Given the description of an element on the screen output the (x, y) to click on. 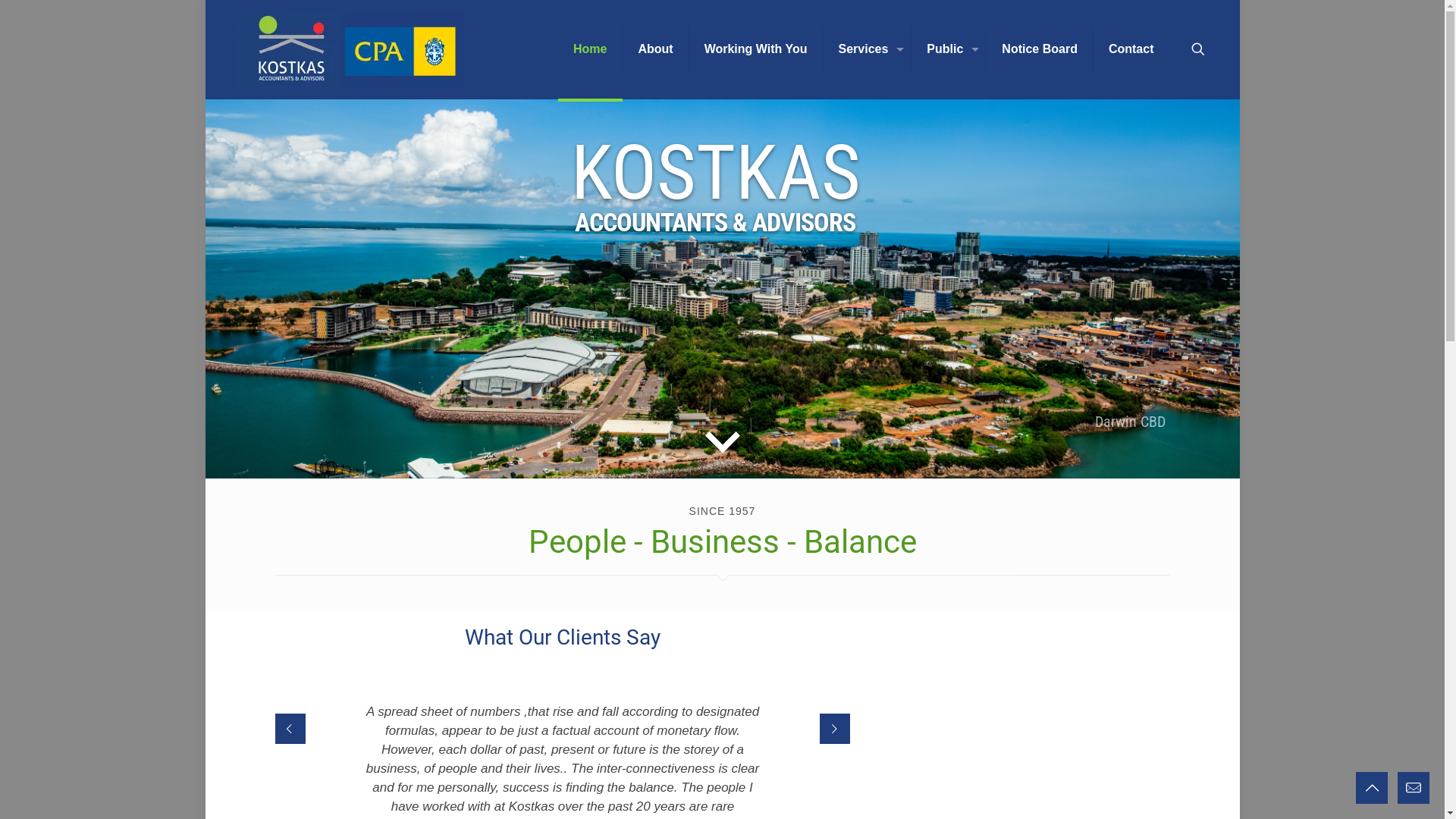
Notice Board Element type: text (1039, 49)
Services Element type: text (867, 49)
Public Element type: text (948, 49)
Home Element type: text (590, 49)
Working With You Element type: text (756, 49)
Contact Element type: text (1131, 49)
Kostkas Accountants and Advisors Element type: hover (350, 49)
About Element type: text (655, 49)
